Given the description of an element on the screen output the (x, y) to click on. 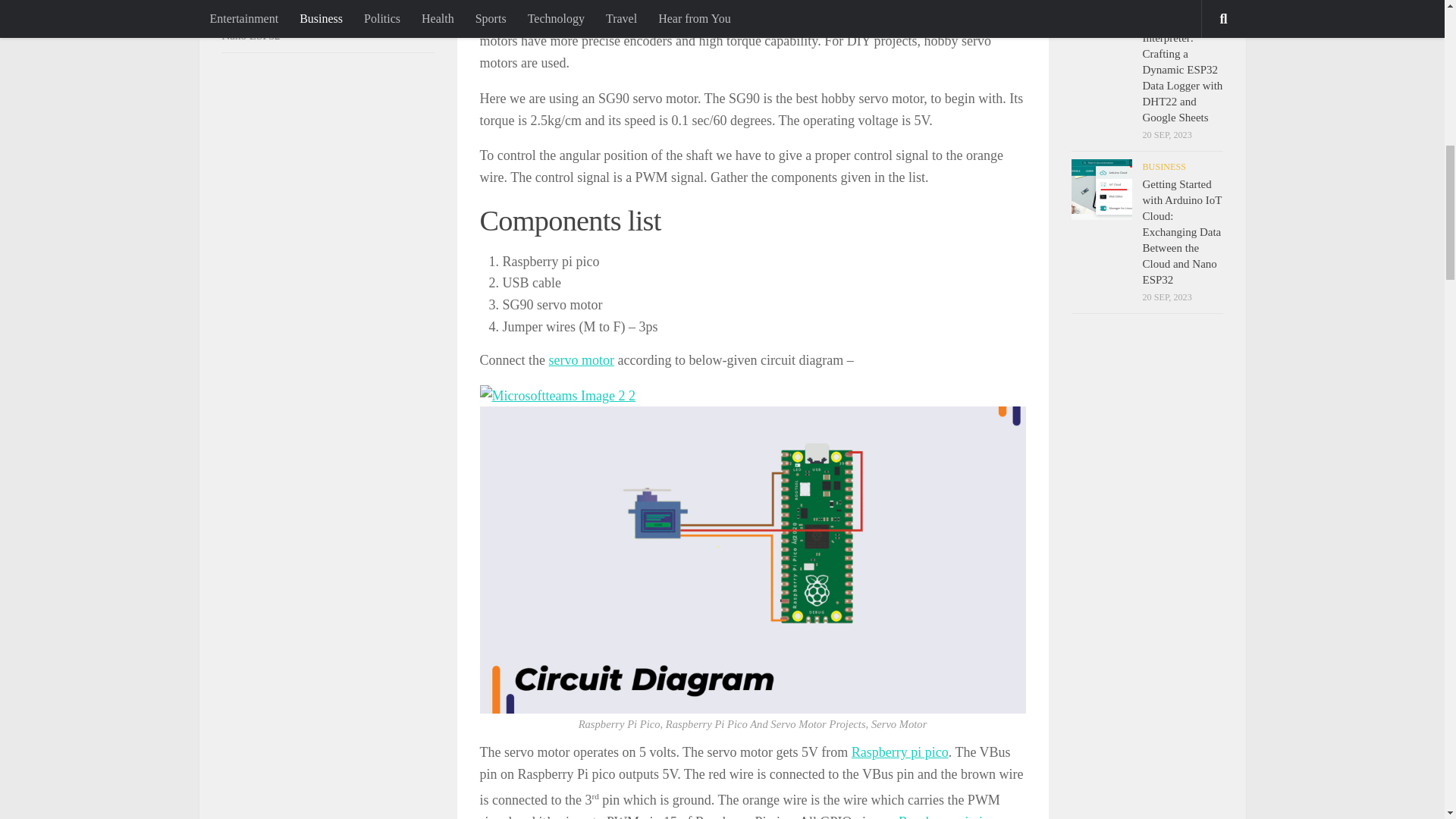
Servo Motor Microsoftteams Image 2 2 (556, 395)
Raspberry pi pico (900, 752)
Raspberry pi pico (946, 816)
servo motor (580, 359)
